Given the description of an element on the screen output the (x, y) to click on. 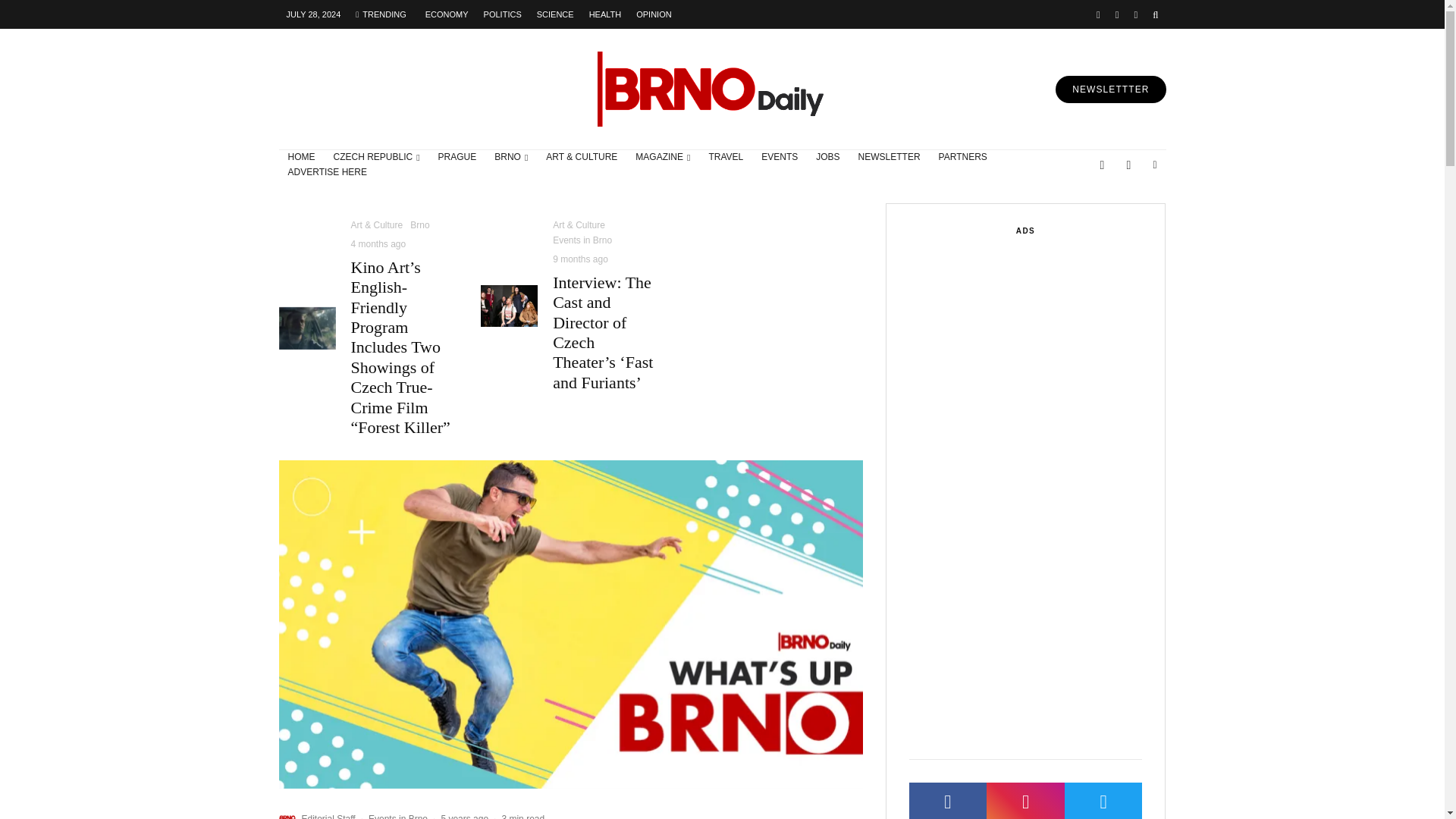
NEWSLETTTER (1110, 89)
TRENDING (380, 14)
PRAGUE (457, 157)
POLITICS (502, 14)
HEALTH (604, 14)
CZECH REPUBLIC (376, 157)
ECONOMY (446, 14)
HOME (301, 157)
OPINION (653, 14)
SCIENCE (554, 14)
